Given the description of an element on the screen output the (x, y) to click on. 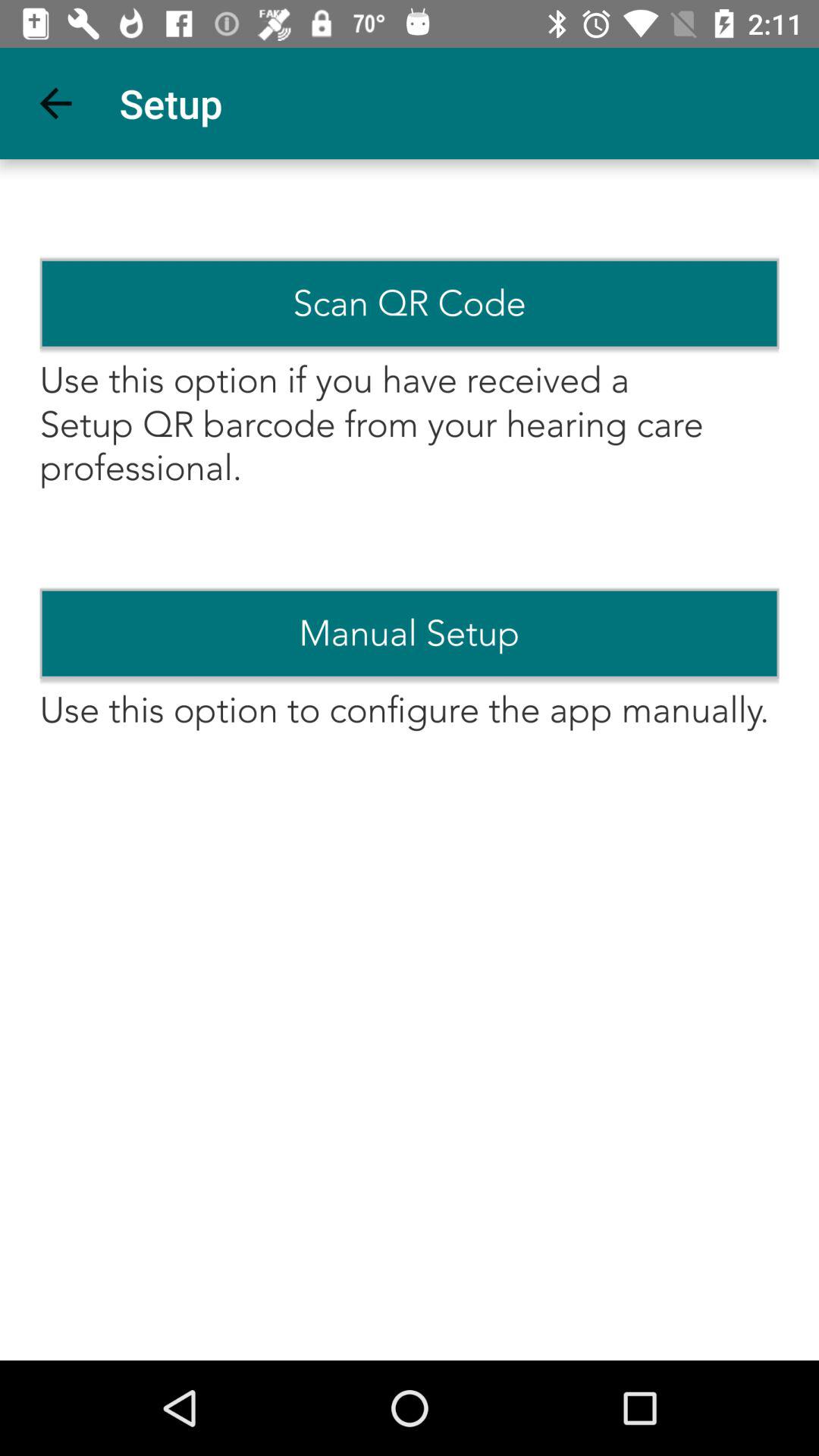
turn off the scan qr code (409, 303)
